Given the description of an element on the screen output the (x, y) to click on. 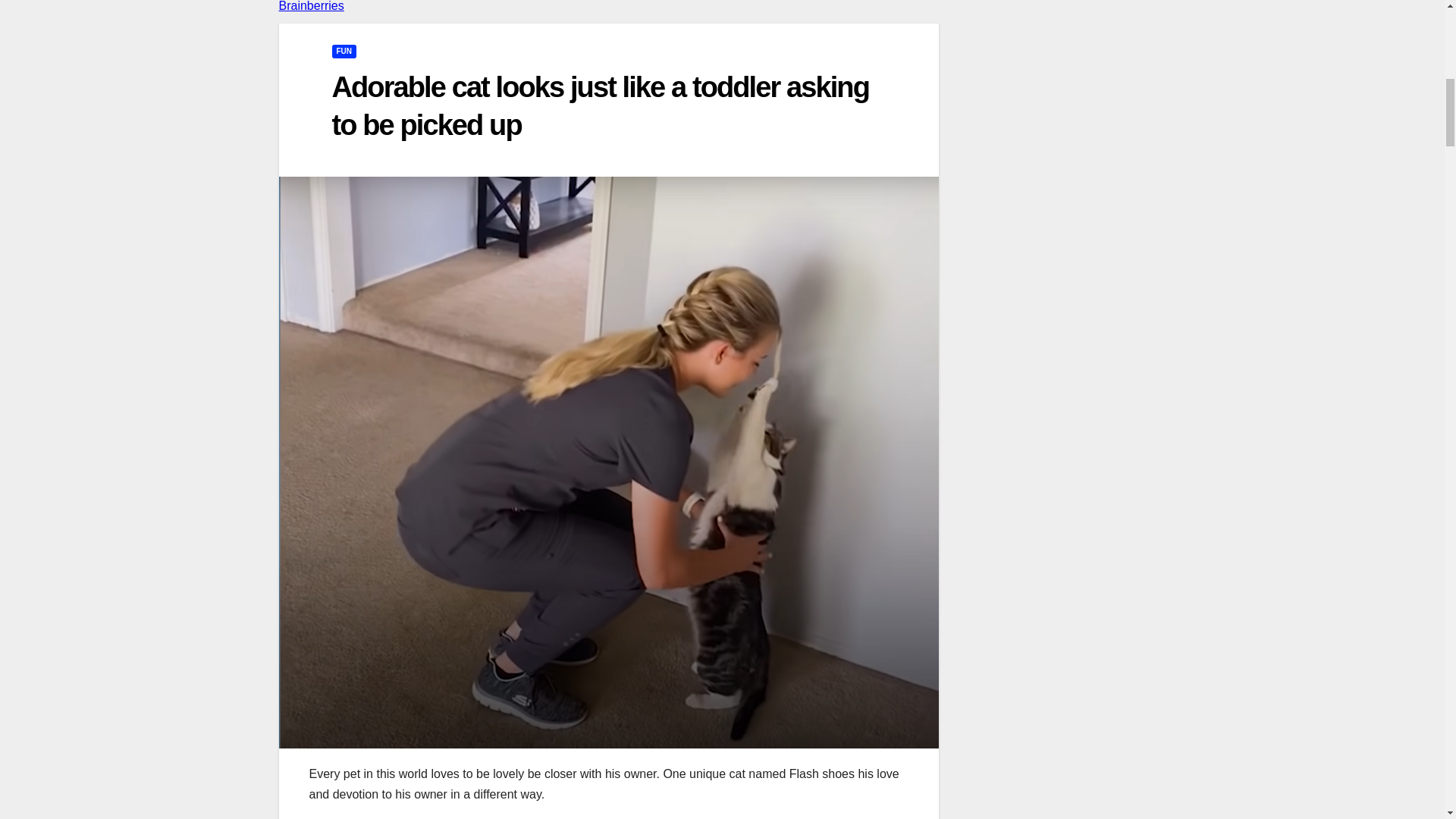
FUN (343, 51)
